Given the description of an element on the screen output the (x, y) to click on. 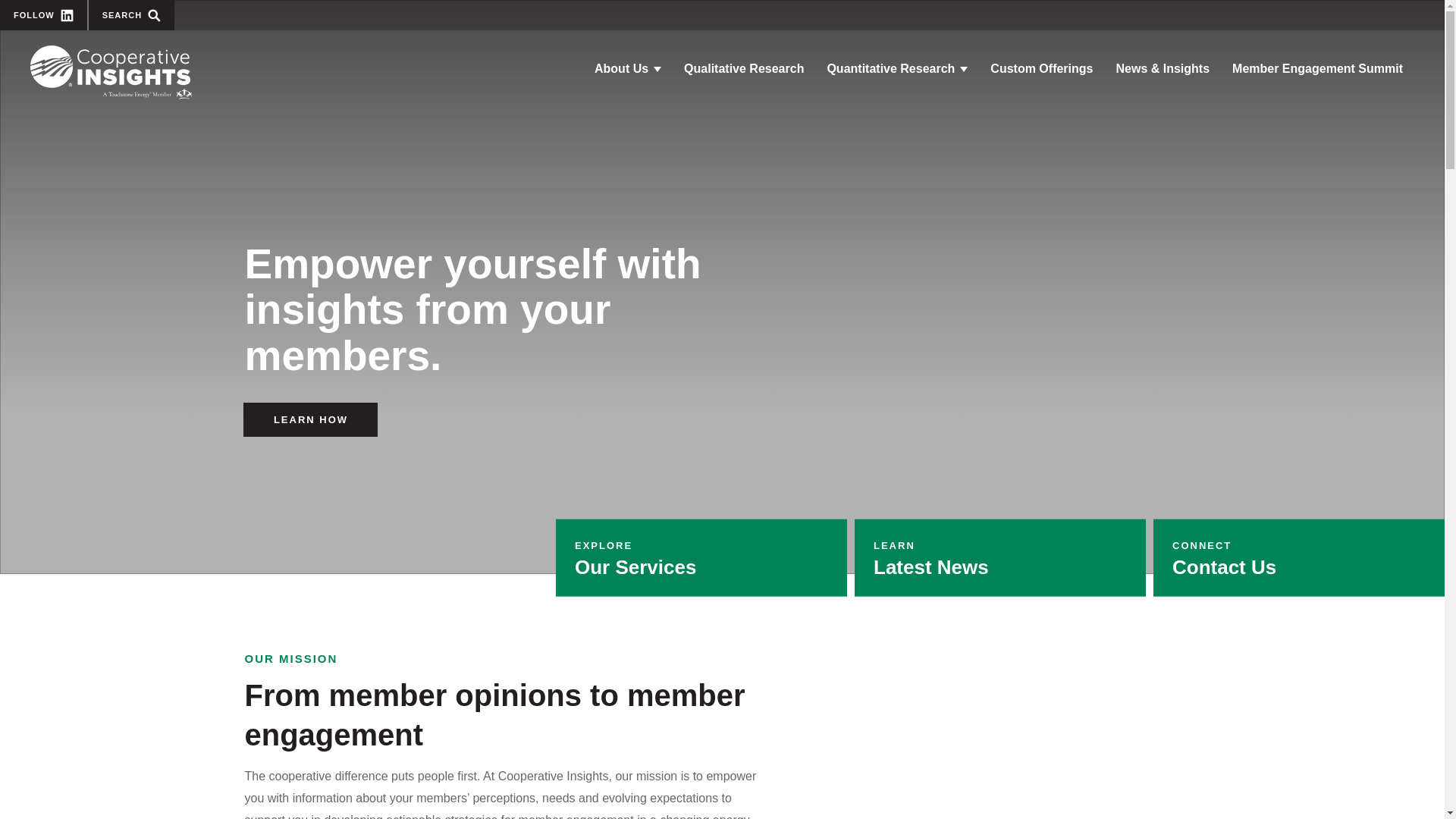
Member Engagement Summit (701, 558)
Custom Offerings (1317, 69)
FOLLOW (1040, 69)
About Us (43, 15)
SEARCH (627, 69)
homepage (131, 15)
Qualitative Research (111, 72)
Quantitative Research (743, 69)
LEARN HOW (999, 558)
Skip to Main Content (896, 69)
